Given the description of an element on the screen output the (x, y) to click on. 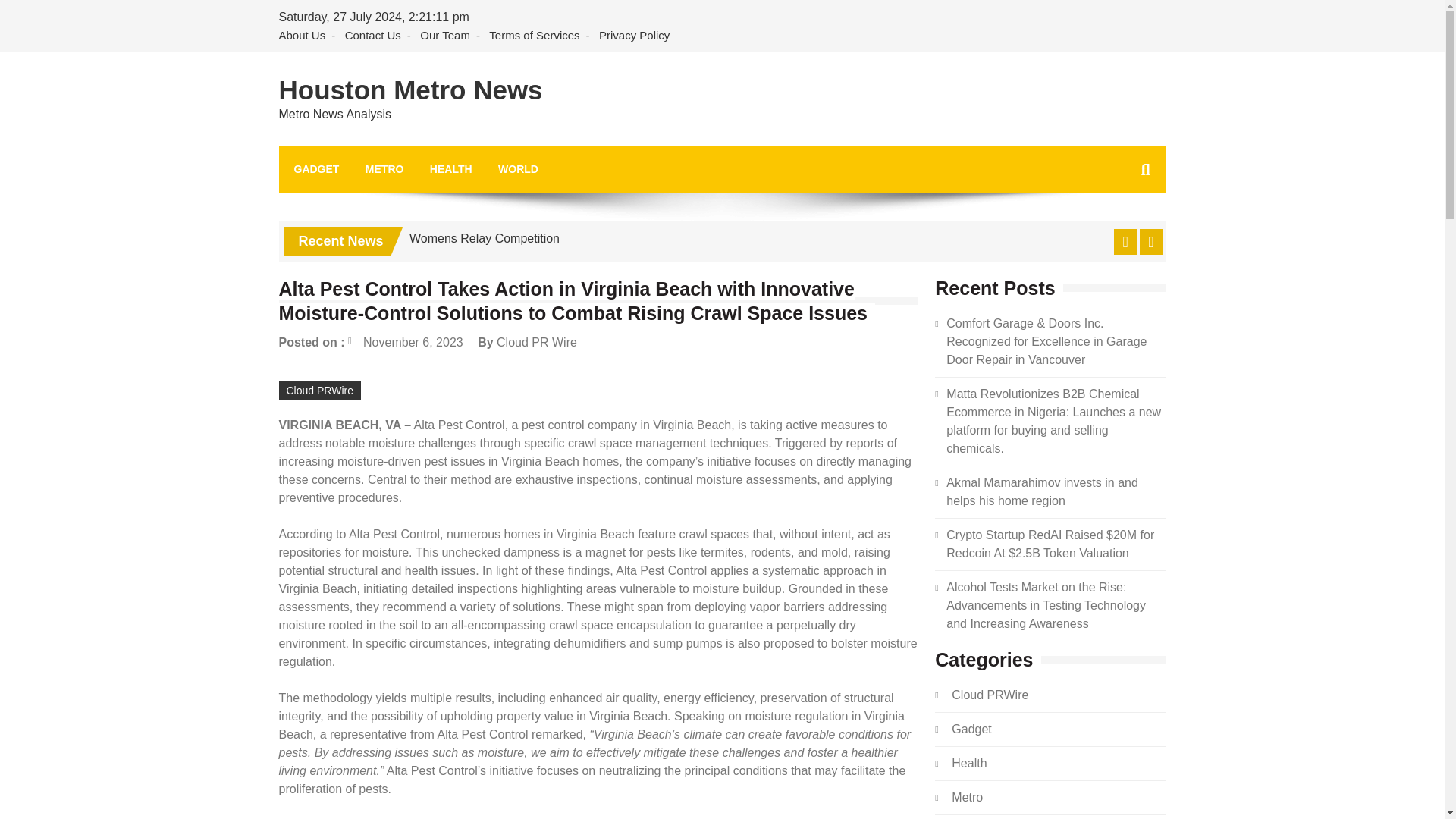
Contact Us (373, 36)
Our Team (444, 36)
Cloud PRWire (320, 390)
GADGET (316, 169)
Houston Metro News (411, 90)
Akmal Mamarahimov invests in and helps his home region (1042, 490)
About Us (305, 36)
METRO (384, 169)
Cloud PRWire (989, 694)
November 6, 2023 (405, 341)
Search (1120, 237)
Womens Relay Competition (484, 237)
HEALTH (450, 169)
Cloud PR Wire (536, 341)
